Given the description of an element on the screen output the (x, y) to click on. 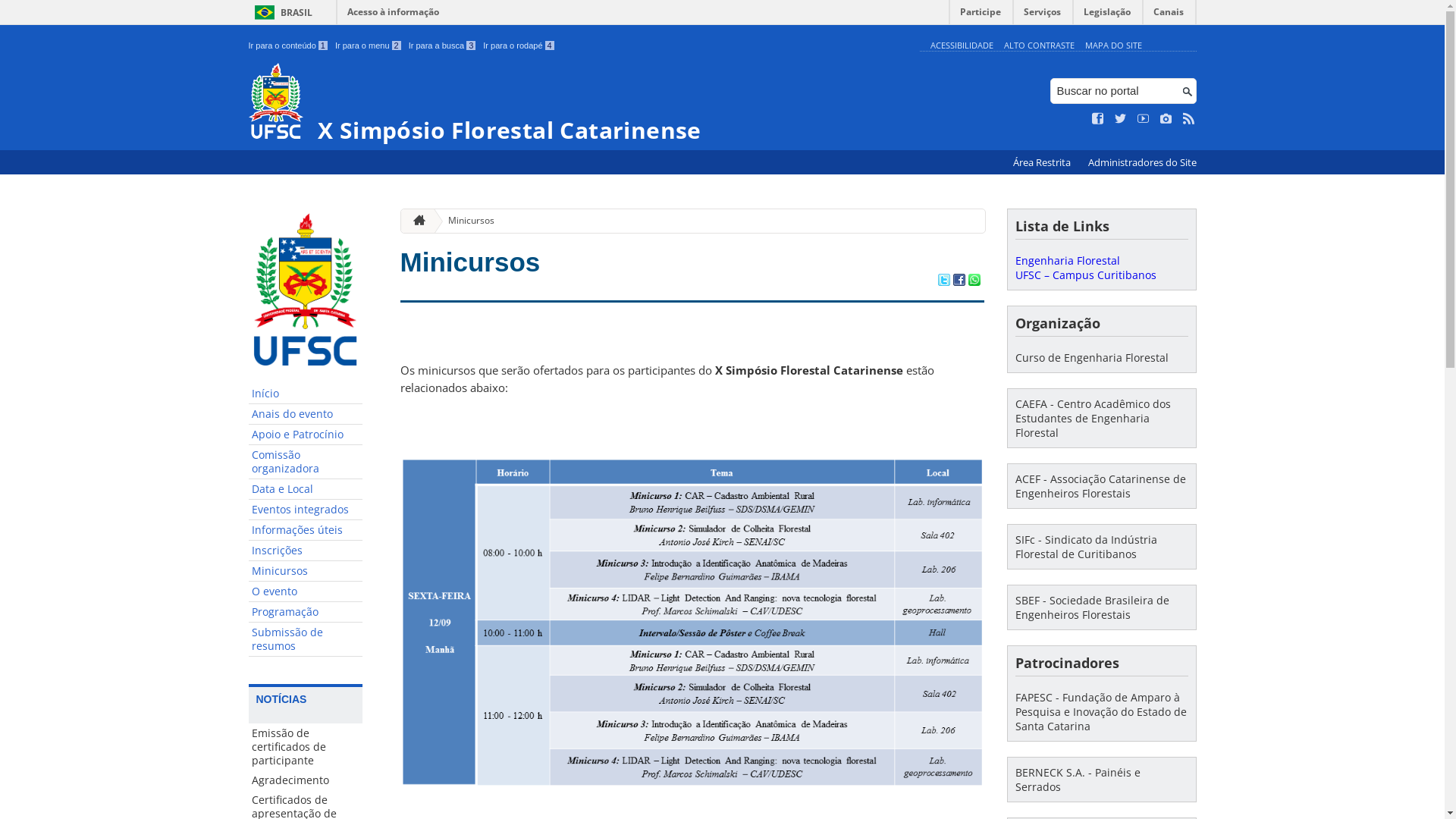
Curta no Facebook Element type: hover (1098, 118)
Minicursos Element type: text (305, 571)
ACESSIBILIDADE Element type: text (960, 44)
Siga no Twitter Element type: hover (1120, 118)
Canais Element type: text (1169, 15)
Ir para a busca 3 Element type: text (442, 45)
BRASIL Element type: text (280, 12)
Anais do evento Element type: text (305, 414)
O evento Element type: text (305, 591)
Engenharia Florestal Element type: text (1066, 260)
Ir para o menu 2 Element type: text (368, 45)
Agradecimento Element type: text (305, 780)
Minicursos Element type: text (464, 220)
Compartilhar no WhatsApp Element type: hover (973, 280)
Participe Element type: text (980, 15)
Minicursos Element type: text (470, 261)
Administradores do Site Element type: text (1141, 162)
Compartilhar no Facebook Element type: hover (958, 280)
MAPA DO SITE Element type: text (1112, 44)
Veja no Instagram Element type: hover (1166, 118)
Compartilhar no Twitter Element type: hover (943, 280)
Data e Local Element type: text (305, 489)
ALTO CONTRASTE Element type: text (1039, 44)
Eventos integrados Element type: text (305, 509)
